Given the description of an element on the screen output the (x, y) to click on. 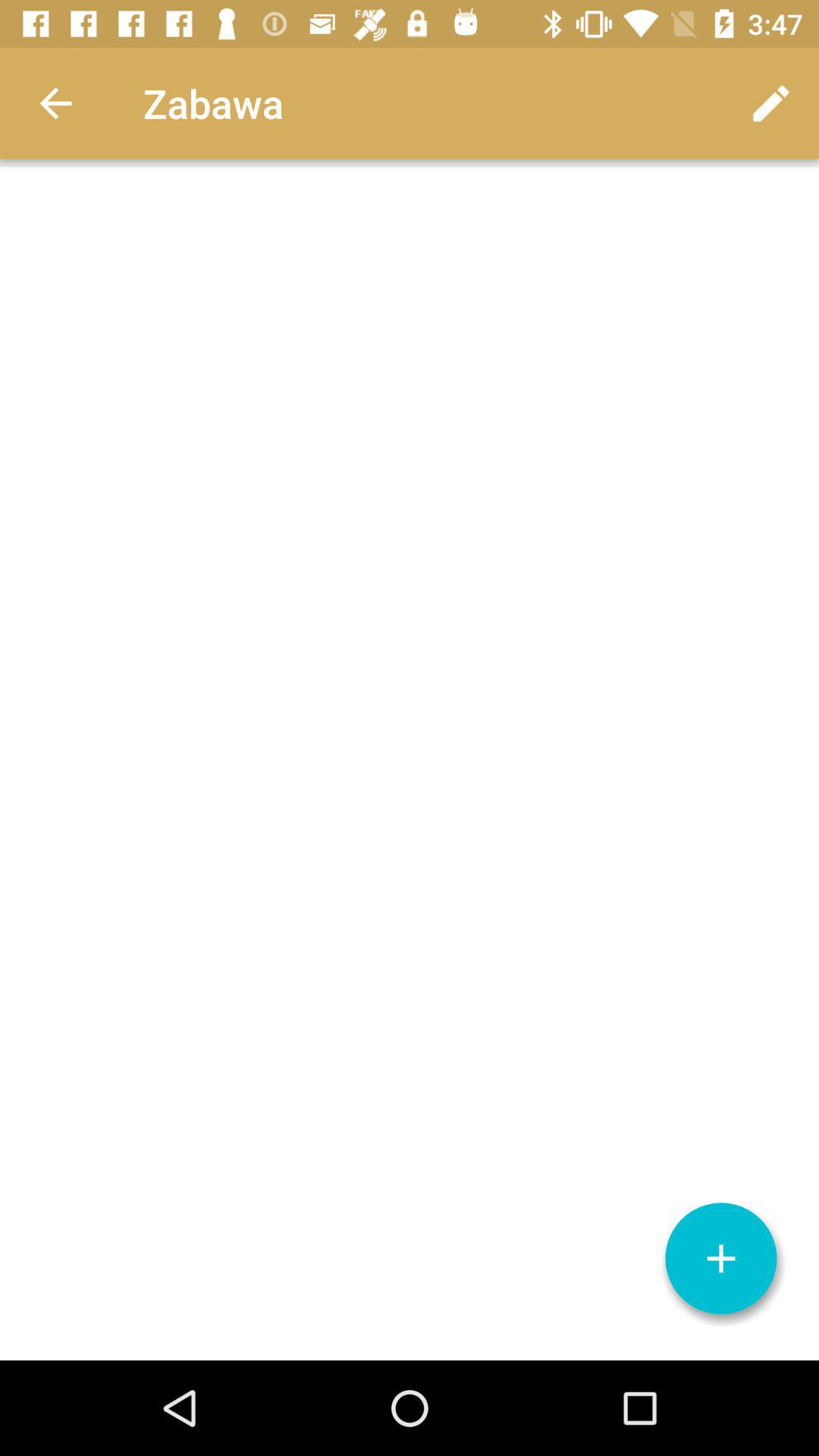
add new (721, 1258)
